Given the description of an element on the screen output the (x, y) to click on. 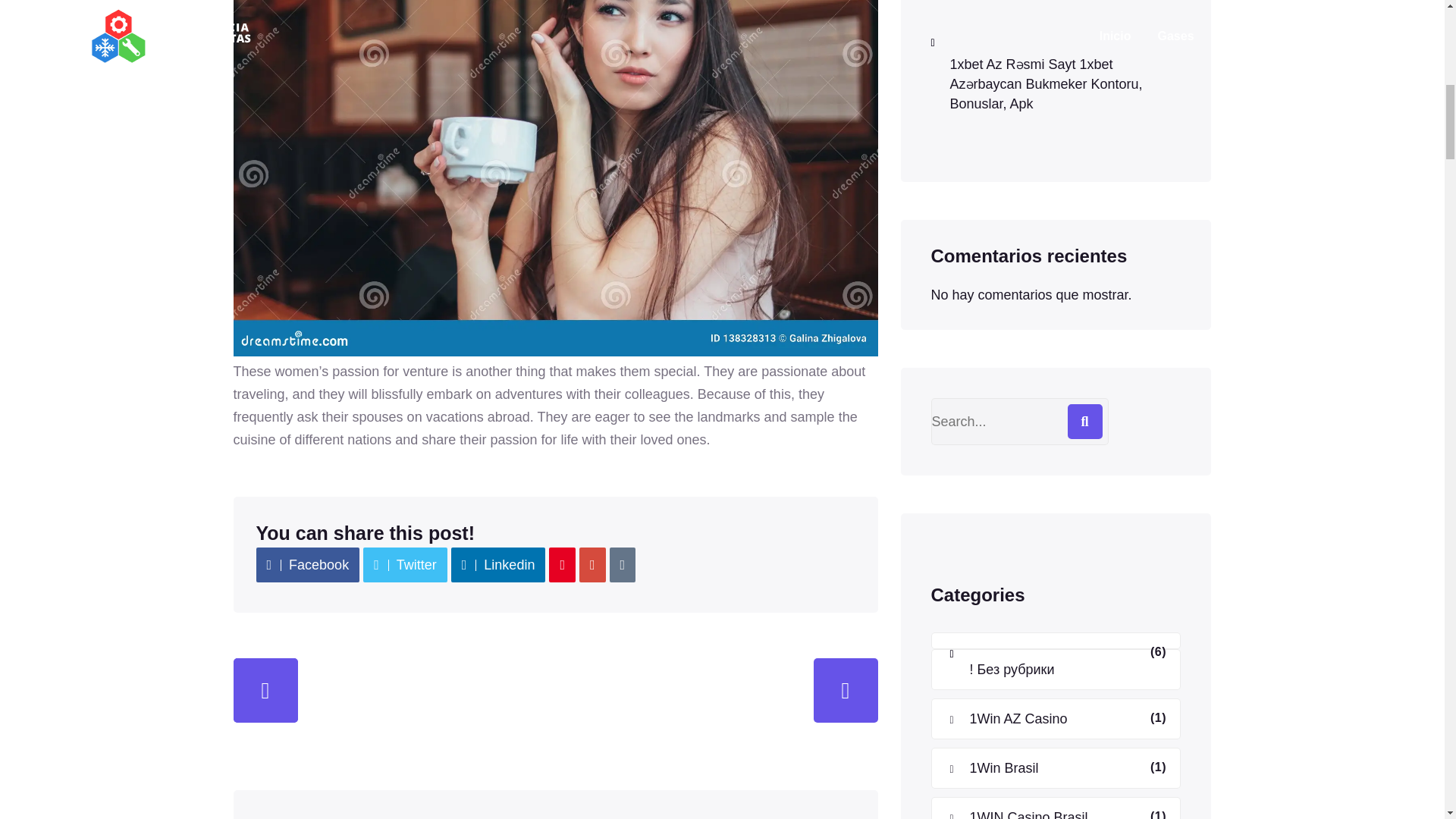
No hay comentarios que mostrar. (1031, 294)
Twitter (404, 564)
Facebook (307, 564)
Comentarios recientes (1028, 256)
Categories (978, 595)
Linkedin (498, 564)
Search for: (1019, 421)
